Given the description of an element on the screen output the (x, y) to click on. 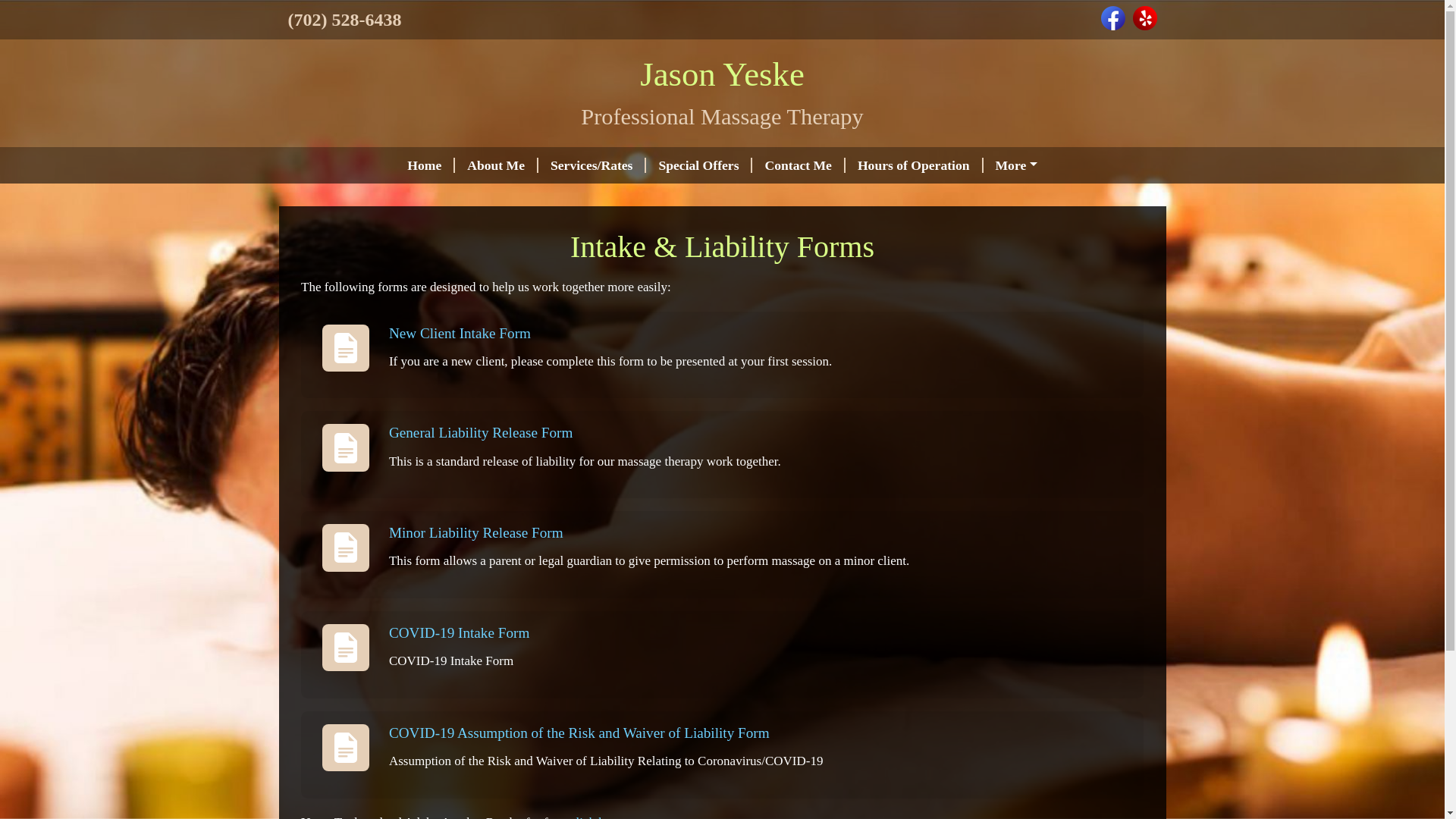
click here (595, 816)
General Liability Release Form (480, 432)
Home (424, 164)
Special Offers (699, 164)
Minor Liability Release Form (475, 532)
COVID-19 Assumption of the Risk and Waiver of Liability Form (579, 732)
Contact Me (798, 164)
Hours of Operation (914, 164)
New Client Intake Form (459, 333)
COVID-19 Intake Form (458, 632)
More (1016, 164)
About Me (496, 164)
